Given the description of an element on the screen output the (x, y) to click on. 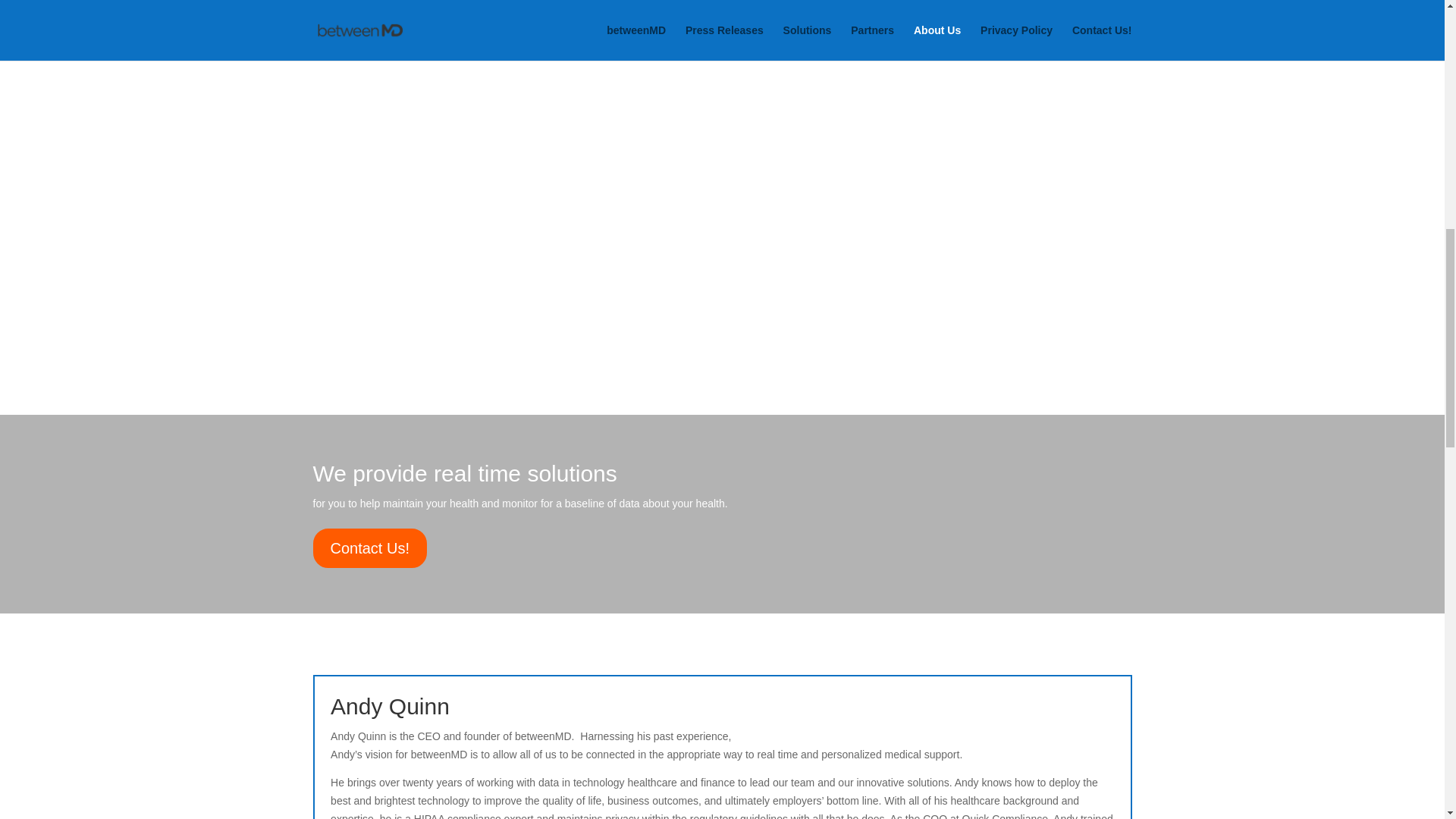
Contact Us! (369, 548)
